Given the description of an element on the screen output the (x, y) to click on. 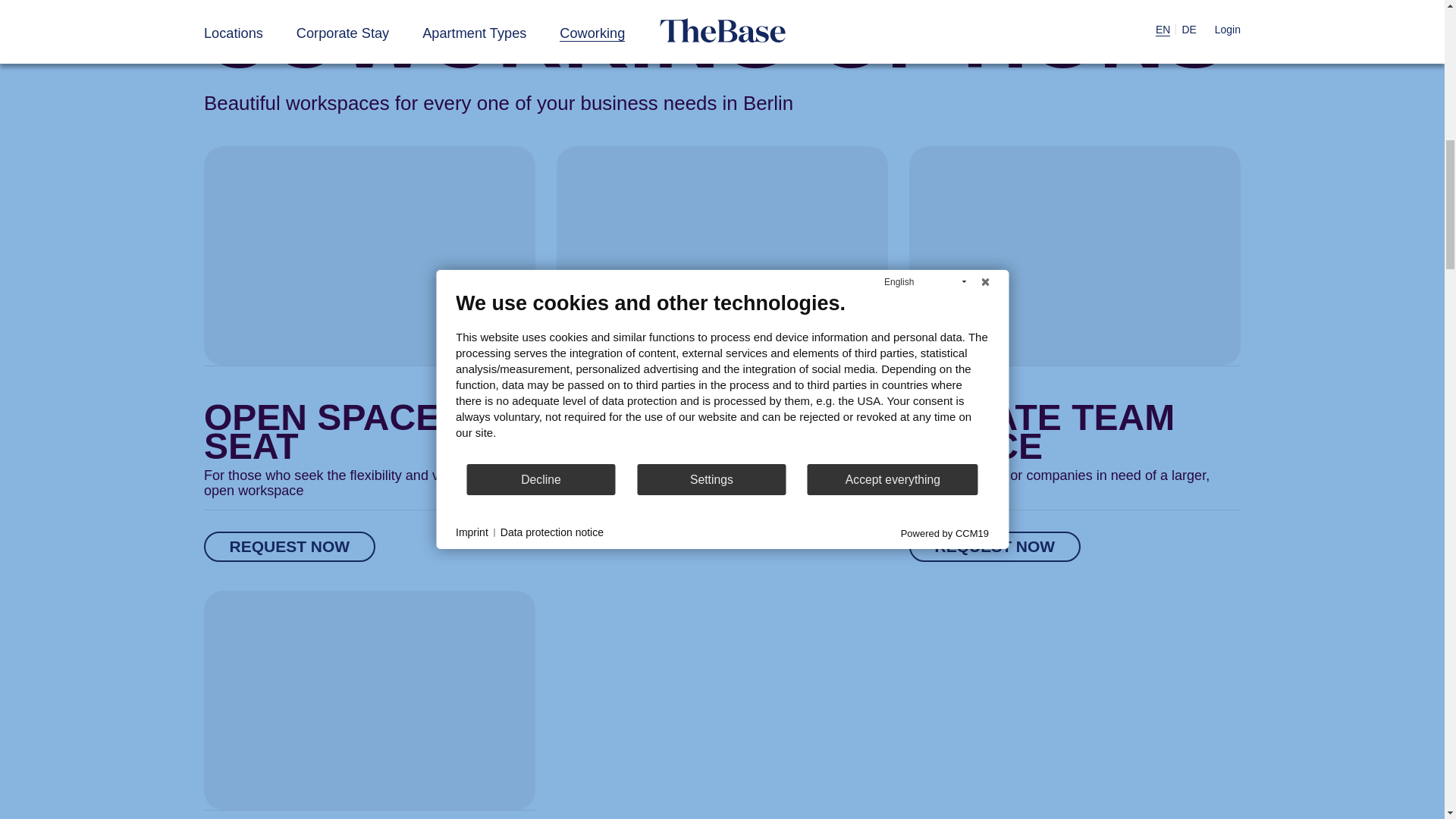
REQUEST NOW (289, 546)
REQUEST NOW (642, 531)
REQUEST NOW (994, 546)
